Given the description of an element on the screen output the (x, y) to click on. 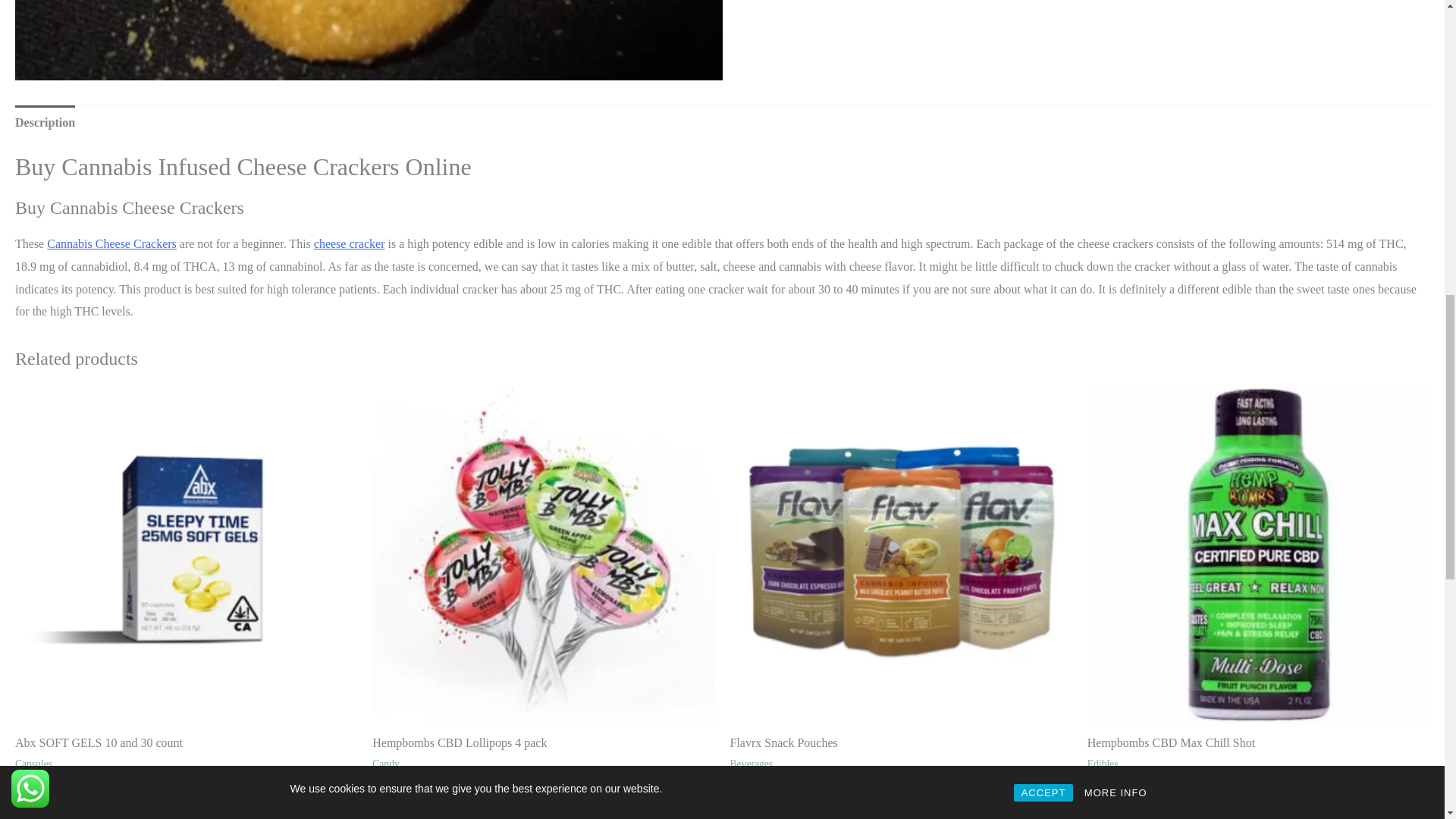
Cannabis Cheese Crackers (368, 40)
